Given the description of an element on the screen output the (x, y) to click on. 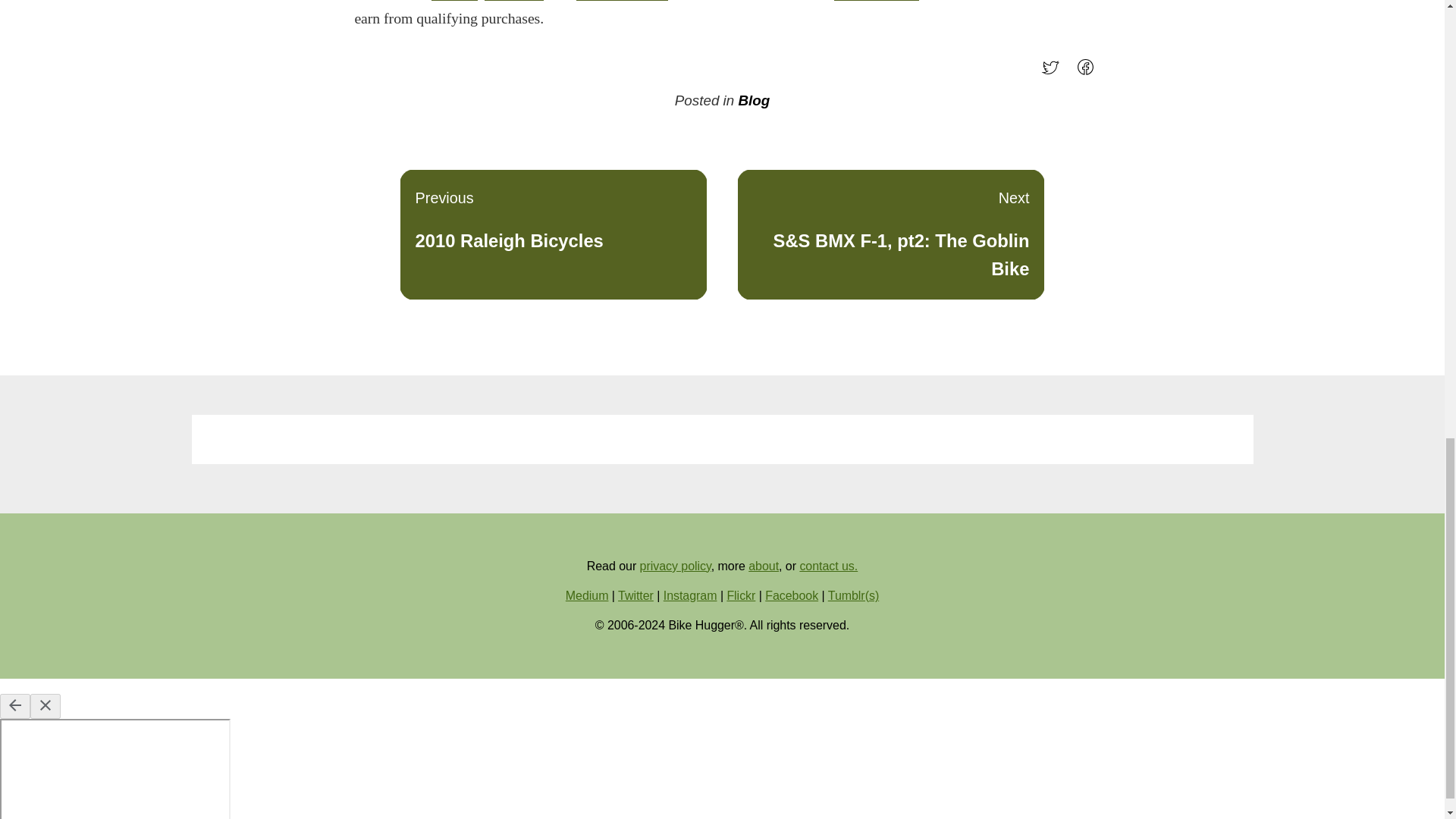
Twitter (635, 594)
Medium (587, 594)
Tweet (1054, 72)
contact us. (828, 565)
privacy policy (675, 565)
Facebook (791, 594)
townies (453, 0)
about (763, 565)
Blog (754, 100)
Instagram (552, 233)
adventure (690, 594)
Flickr (513, 0)
Share on Facebook (740, 594)
